Given the description of an element on the screen output the (x, y) to click on. 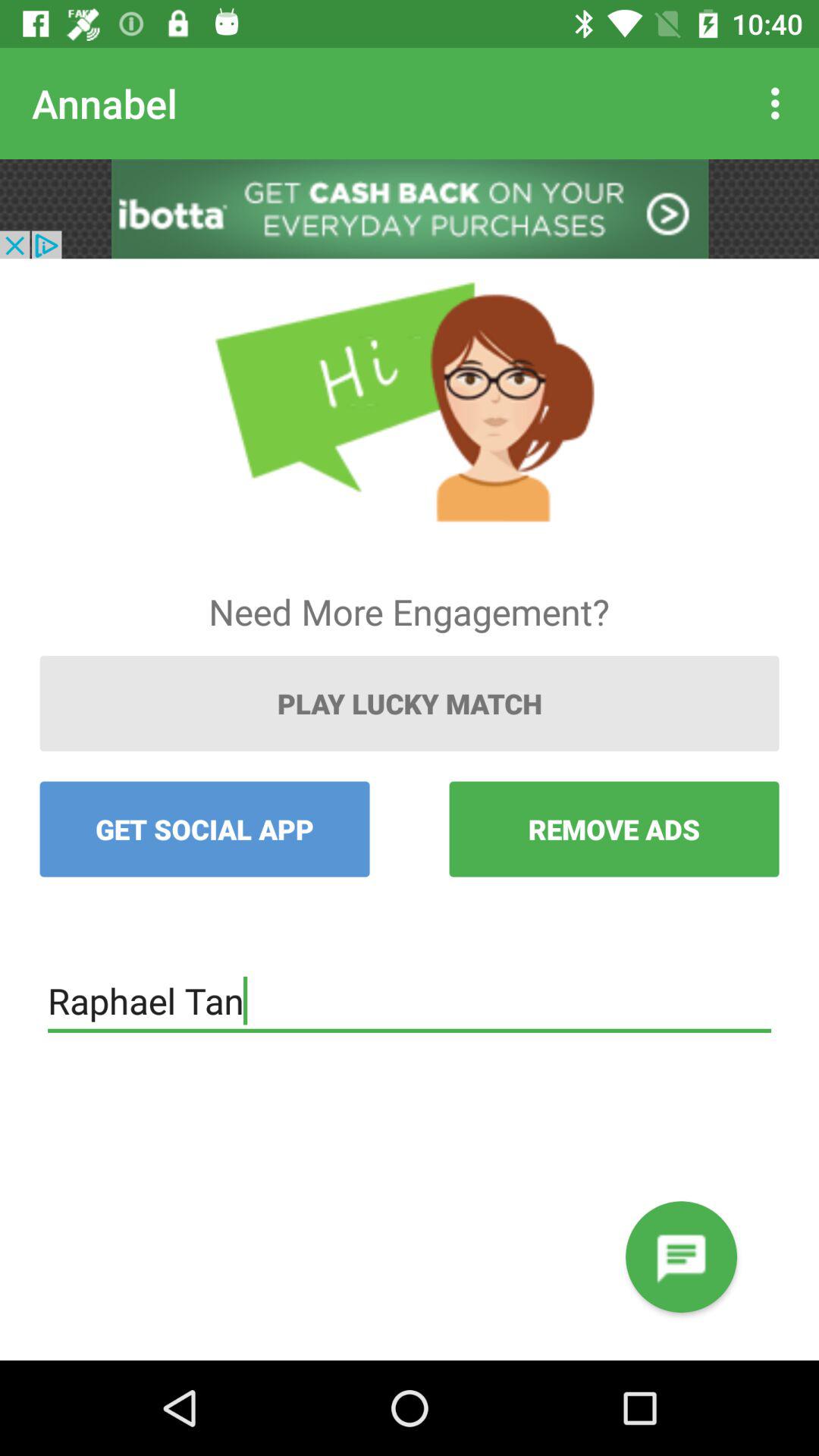
write message (681, 1256)
